Given the description of an element on the screen output the (x, y) to click on. 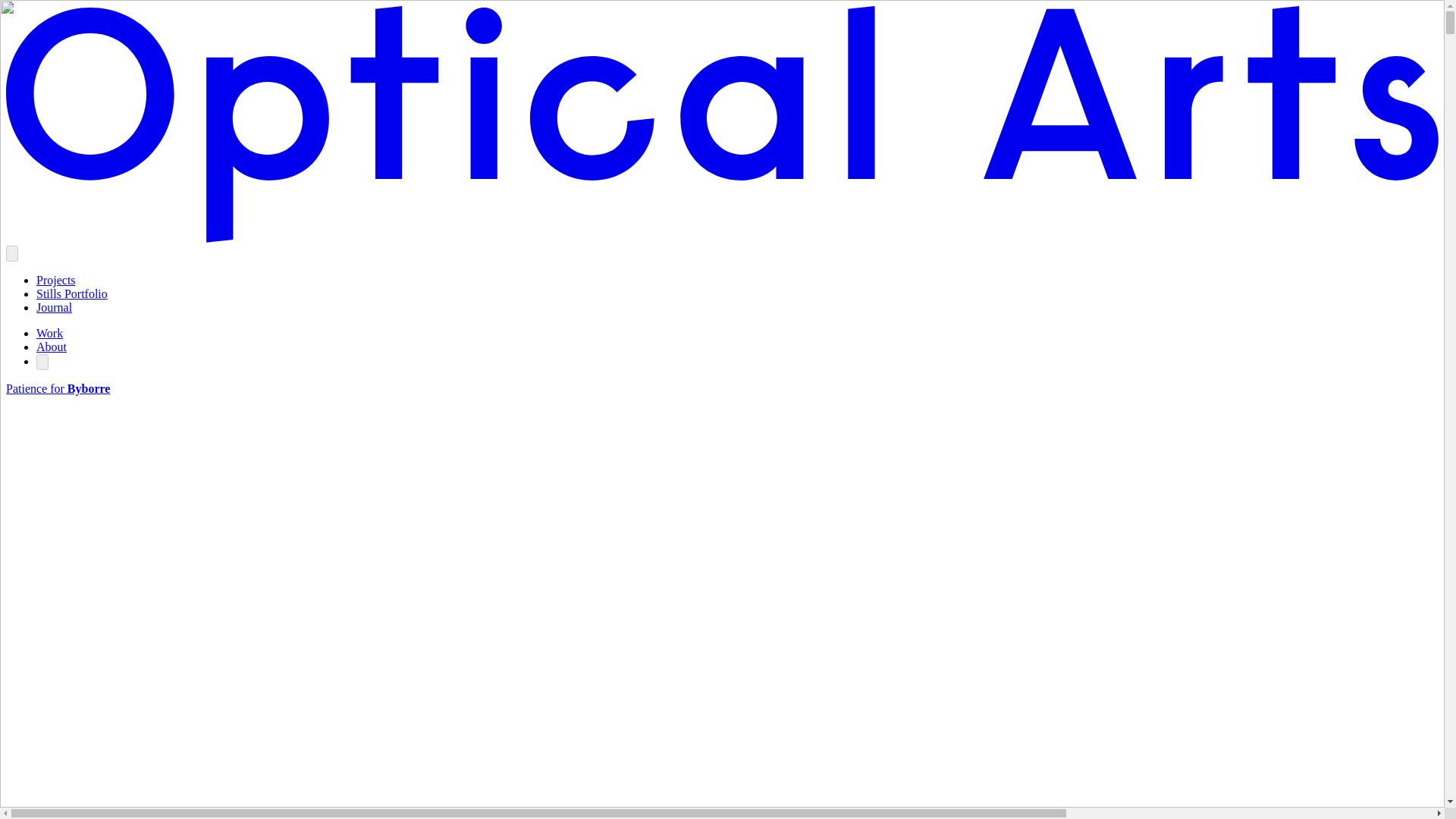
About (51, 346)
About (51, 346)
Journal (53, 307)
Projects (55, 279)
Projects (55, 279)
